Given the description of an element on the screen output the (x, y) to click on. 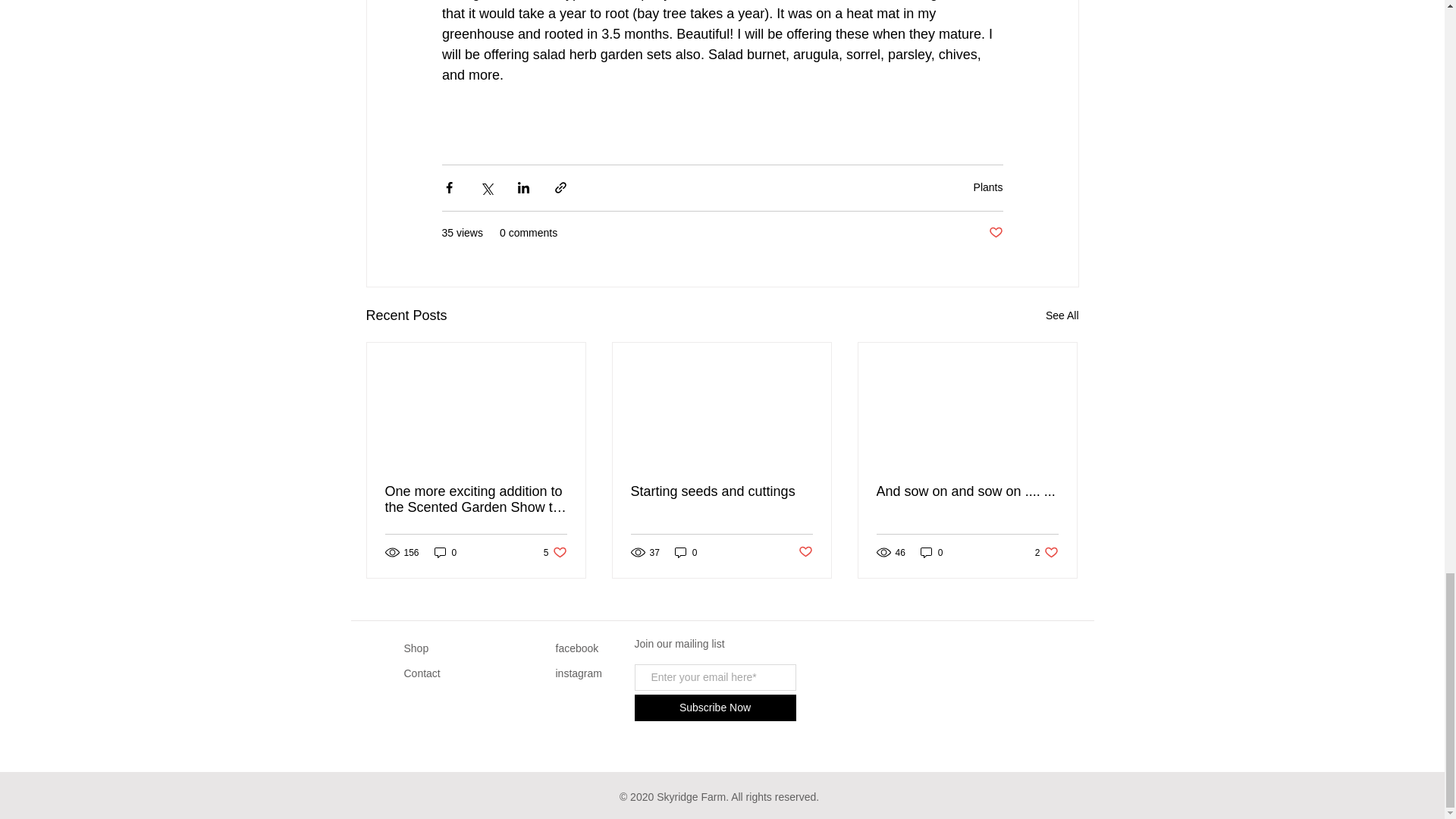
Starting seeds and cuttings (721, 491)
Post not marked as liked (995, 232)
Post not marked as liked (804, 552)
See All (555, 552)
Contact (1061, 315)
0 (421, 673)
facebook (445, 552)
